Given the description of an element on the screen output the (x, y) to click on. 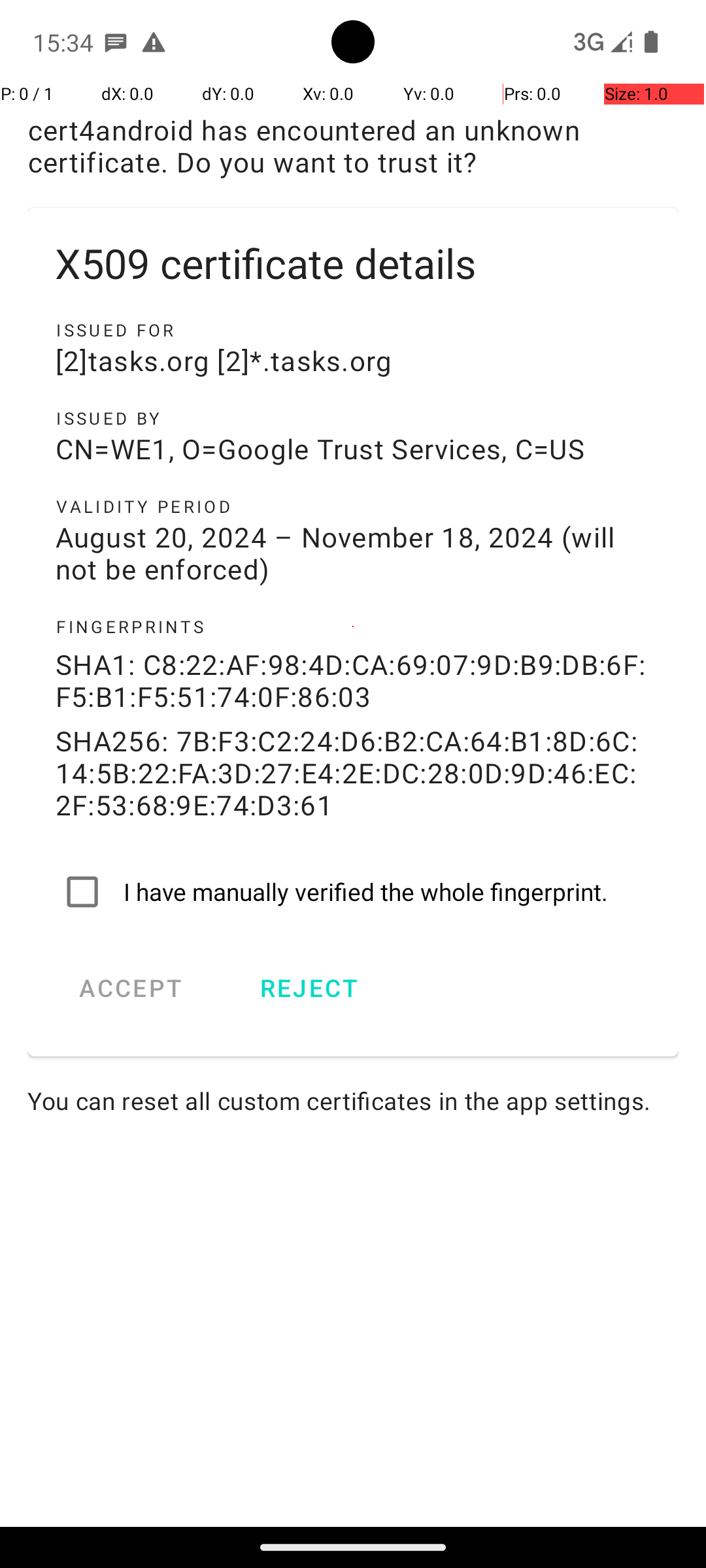
cert4android has encountered an unknown certificate. Do you want to trust it? Element type: android.widget.TextView (352, 145)
X509 certificate details Element type: android.widget.TextView (352, 262)
ISSUED FOR Element type: android.widget.TextView (352, 329)
[2]tasks.org [2]*.tasks.org  Element type: android.widget.TextView (352, 359)
ISSUED BY Element type: android.widget.TextView (352, 417)
CN=WE1, O=Google Trust Services, C=US Element type: android.widget.TextView (352, 448)
VALIDITY PERIOD Element type: android.widget.TextView (352, 506)
August 20, 2024 – November 18, 2024 (will not be enforced) Element type: android.widget.TextView (352, 552)
FINGERPRINTS Element type: android.widget.TextView (352, 626)
SHA1: C8:22:AF:98:4D:CA:69:07:9D:B9:DB:6F:F5:B1:F5:51:74:0F:86:03 Element type: android.widget.TextView (352, 679)
SHA256: 7B:F3:C2:24:D6:B2:CA:64:B1:8D:6C:14:5B:22:FA:3D:27:E4:2E:DC:28:0D:9D:46:EC:2F:53:68:9E:74:D3:61 Element type: android.widget.TextView (352, 772)
I have manually verified the whole fingerprint. Element type: android.widget.CheckBox (352, 891)
ACCEPT Element type: android.widget.Button (129, 987)
REJECT Element type: android.widget.Button (308, 987)
You can reset all custom certificates in the app settings. Element type: android.widget.TextView (352, 1100)
